Given the description of an element on the screen output the (x, y) to click on. 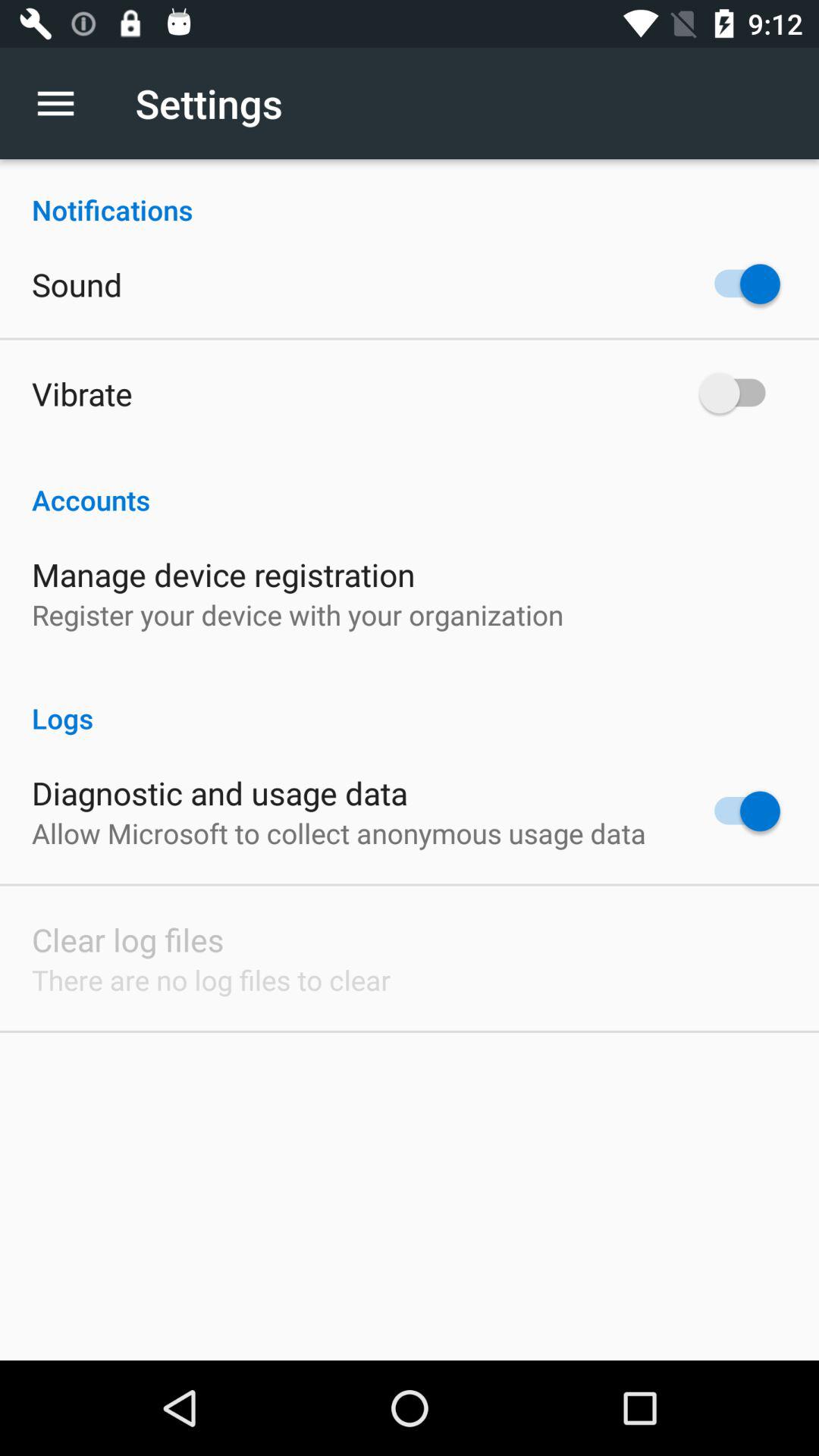
turn on app below register your device app (409, 702)
